Given the description of an element on the screen output the (x, y) to click on. 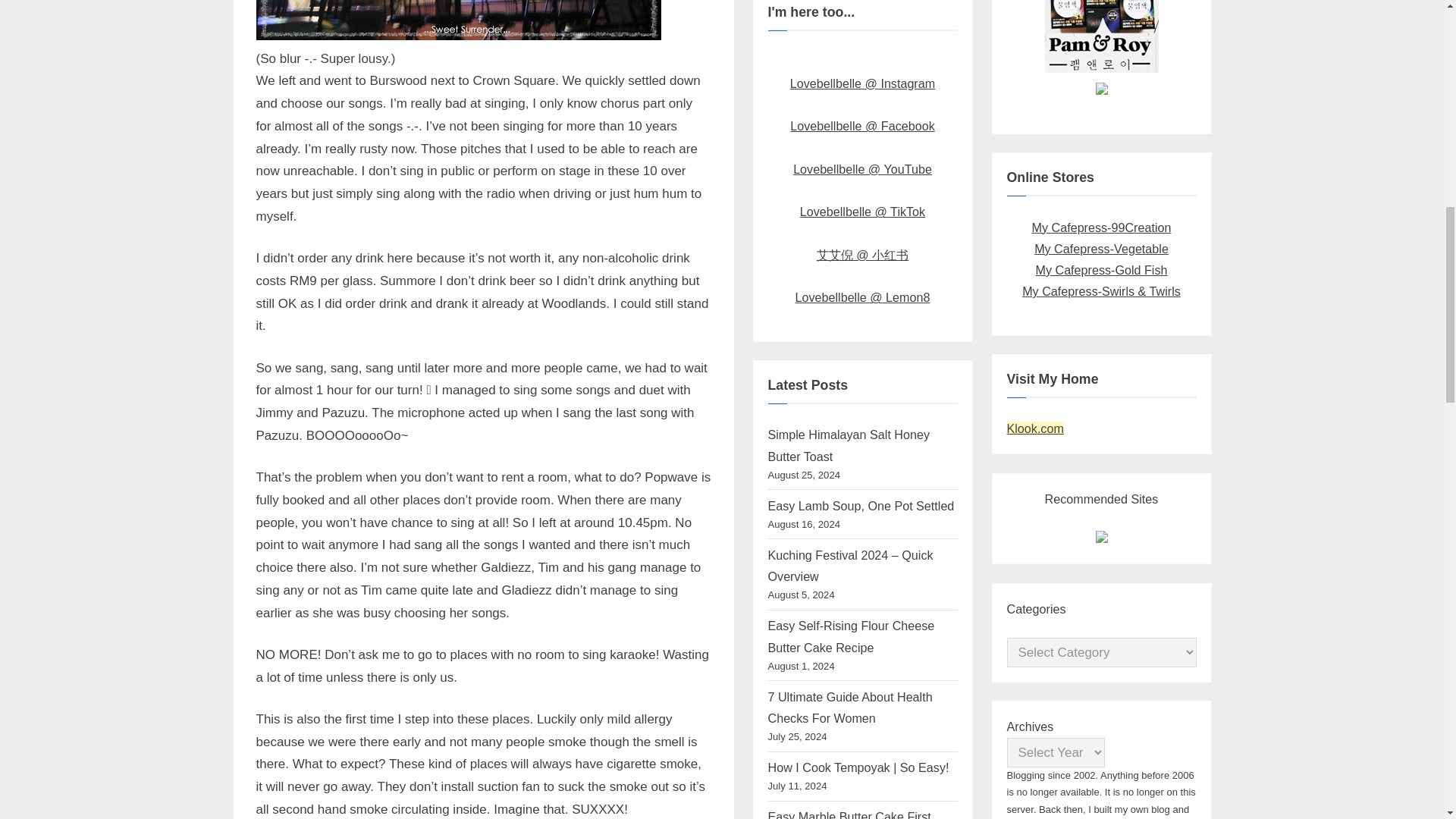
Simple Himalayan Salt Honey Butter Toast (848, 444)
7 Ultimate Guide About Health Checks For Women (849, 707)
Easy Self-Rising Flour Cheese Butter Cake Recipe (850, 636)
Easy Lamb Soup, One Pot Settled (860, 505)
